Given the description of an element on the screen output the (x, y) to click on. 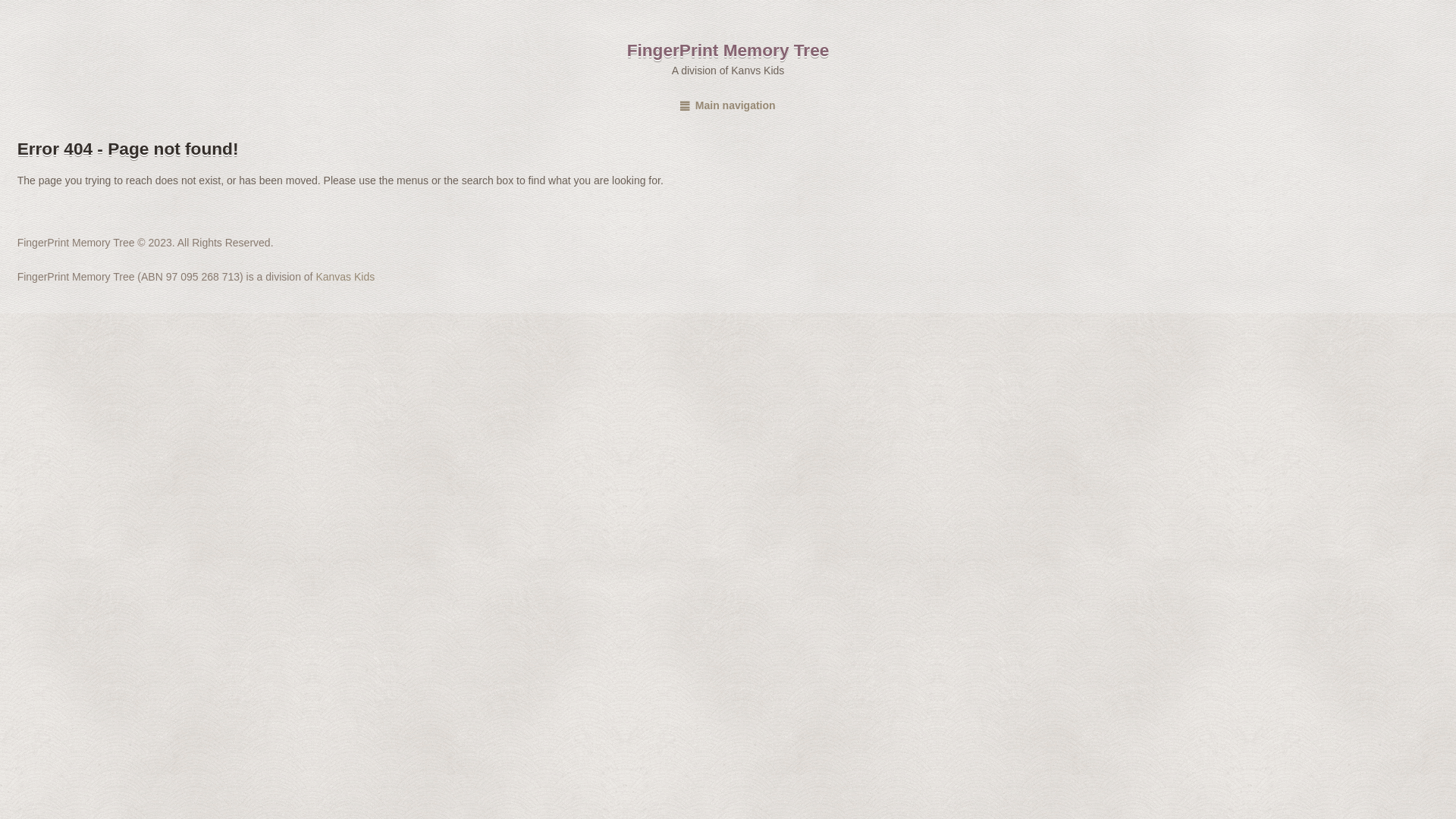
Main navigation Element type: text (727, 105)
FingerPrint Memory Tree Element type: text (728, 49)
Kanvas Kids Element type: text (344, 276)
